Given the description of an element on the screen output the (x, y) to click on. 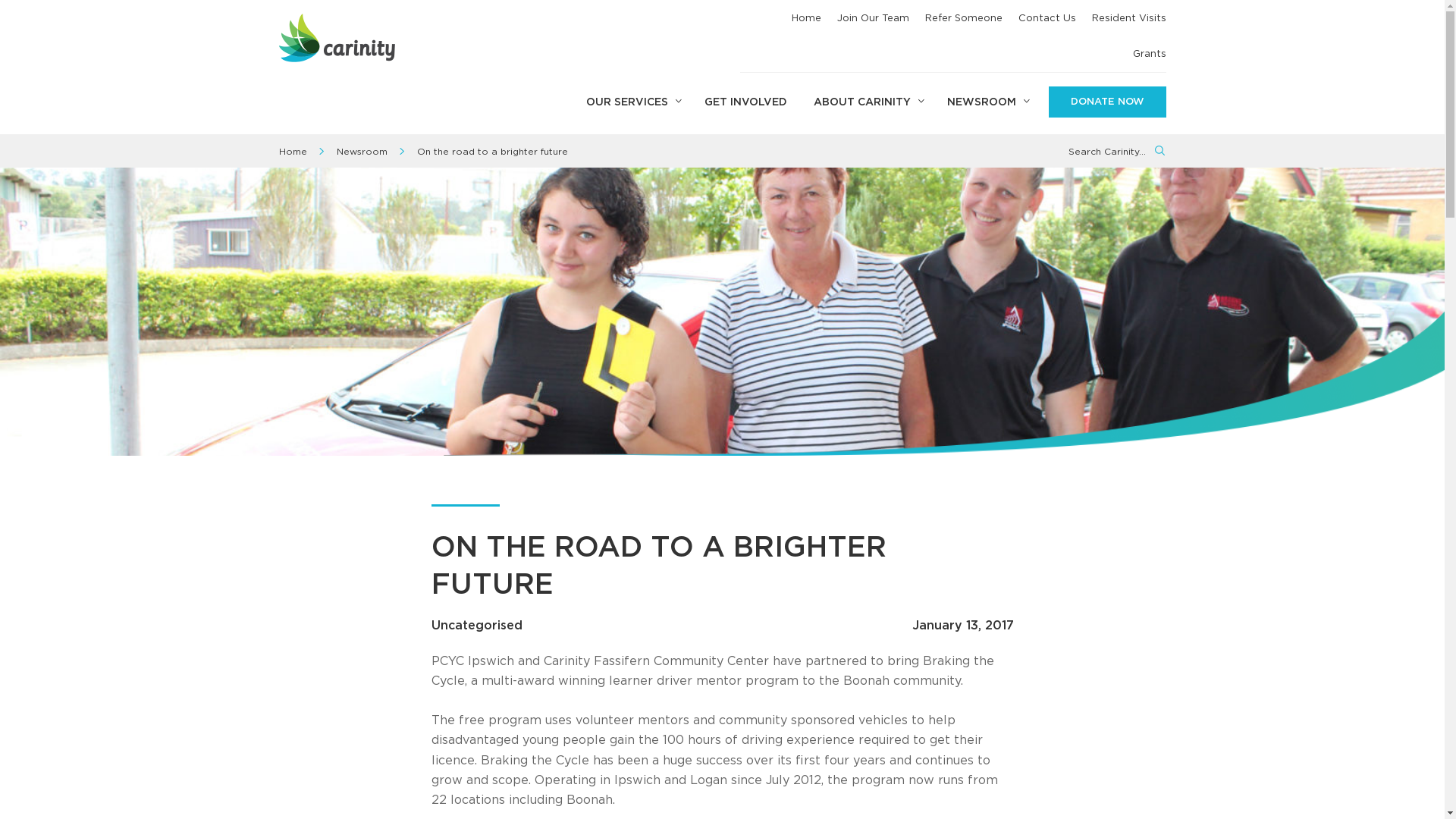
OUR SERVICES Element type: text (631, 102)
Uncategorised Element type: text (475, 625)
Refer Someone Element type: text (963, 17)
Resident Visits Element type: text (1129, 17)
Home Element type: text (293, 151)
Home Element type: text (806, 17)
DONATE NOW Element type: text (1106, 102)
Join Our Team Element type: text (873, 17)
NEWSROOM Element type: text (986, 102)
ABOUT CARINITY Element type: text (866, 102)
Grants Element type: text (1149, 53)
Newsroom Element type: text (361, 151)
GET INVOLVED Element type: text (745, 102)
Contact Us Element type: text (1046, 17)
